Given the description of an element on the screen output the (x, y) to click on. 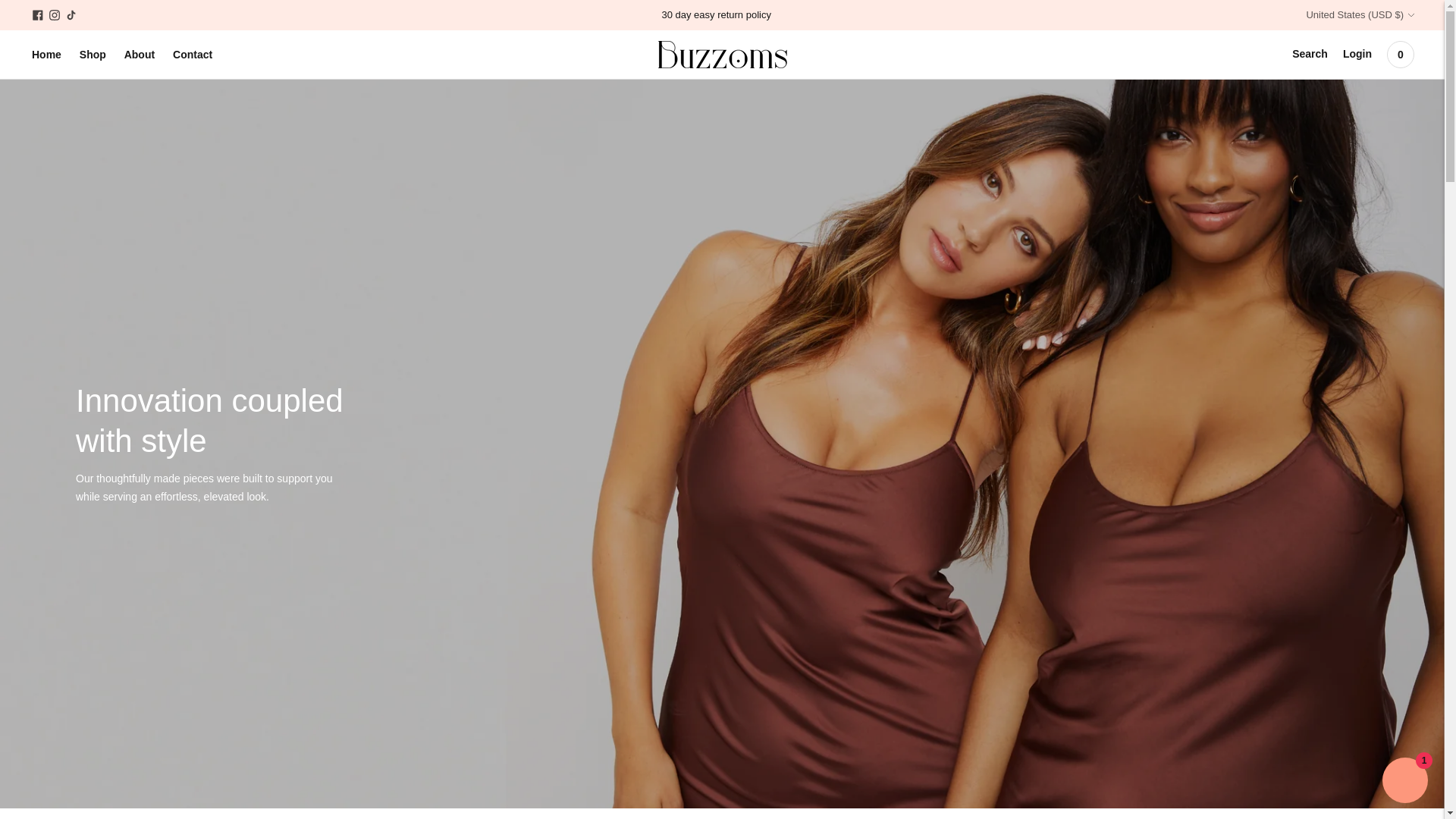
About (138, 54)
Search (1309, 54)
0 (1400, 54)
Buzzoms on TikTok (71, 14)
Buzzoms on Facebook (37, 14)
Contact (192, 54)
Shopify online store chat (1404, 781)
Home (46, 54)
Shop (93, 54)
Buzzoms on Instagram (54, 14)
Login (1356, 54)
